Given the description of an element on the screen output the (x, y) to click on. 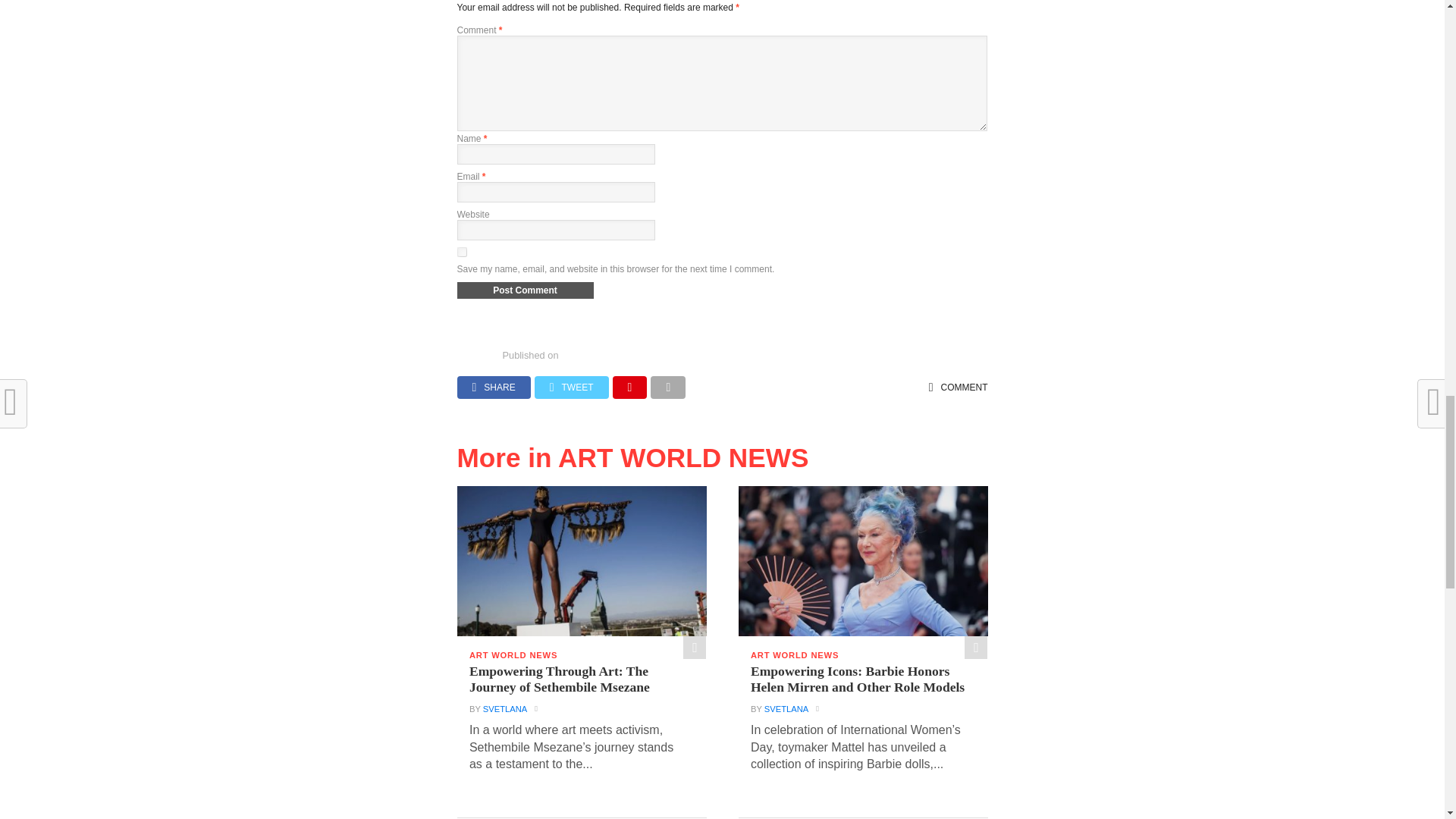
Post Comment (524, 289)
Posts by svetlana (786, 708)
Post Comment (524, 289)
SVETLANA (505, 708)
yes (461, 252)
Posts by svetlana (505, 708)
SVETLANA (786, 708)
